Given the description of an element on the screen output the (x, y) to click on. 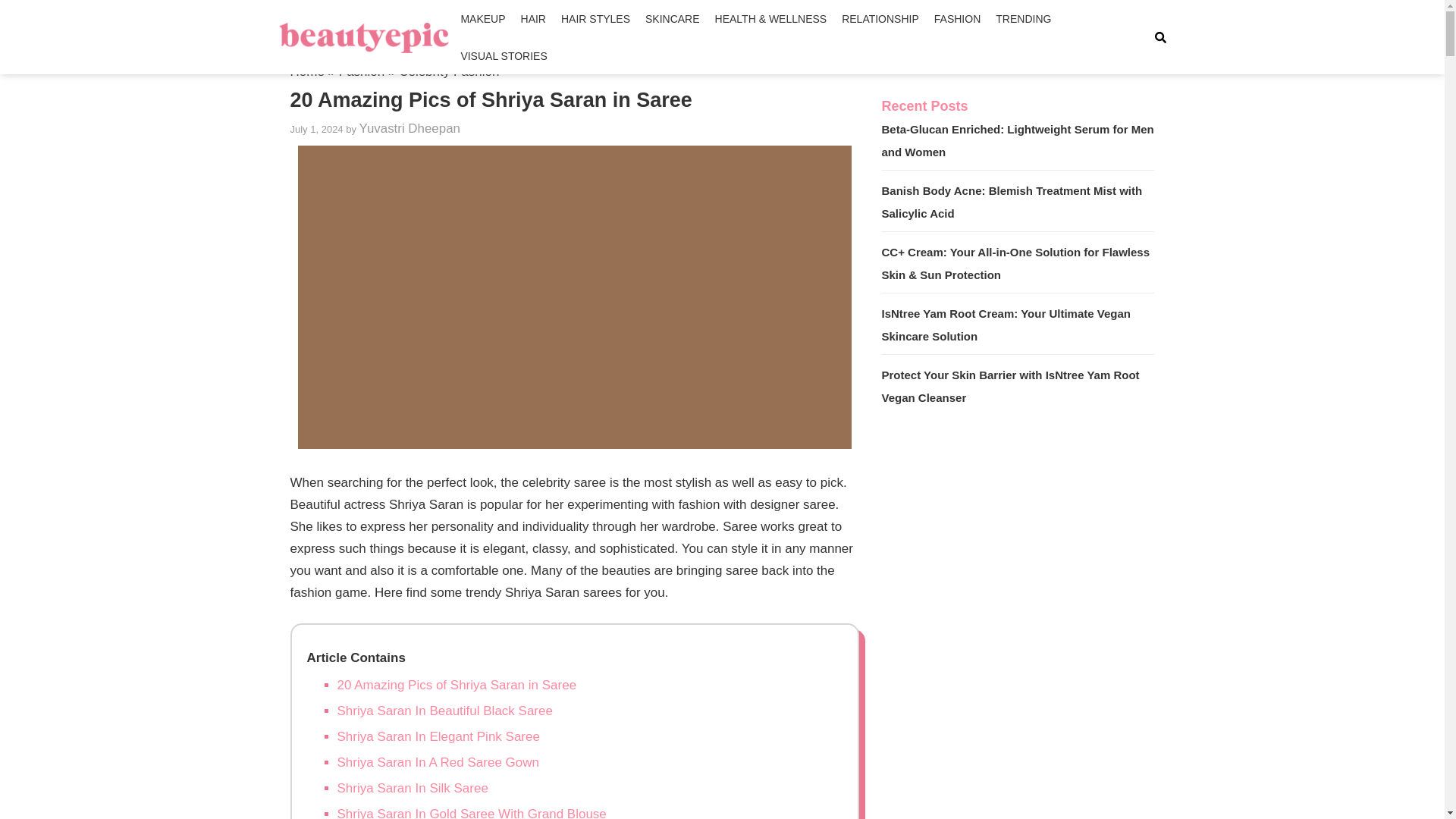
SKINCARE (672, 18)
MAKEUP (482, 18)
HAIR STYLES (595, 18)
